Given the description of an element on the screen output the (x, y) to click on. 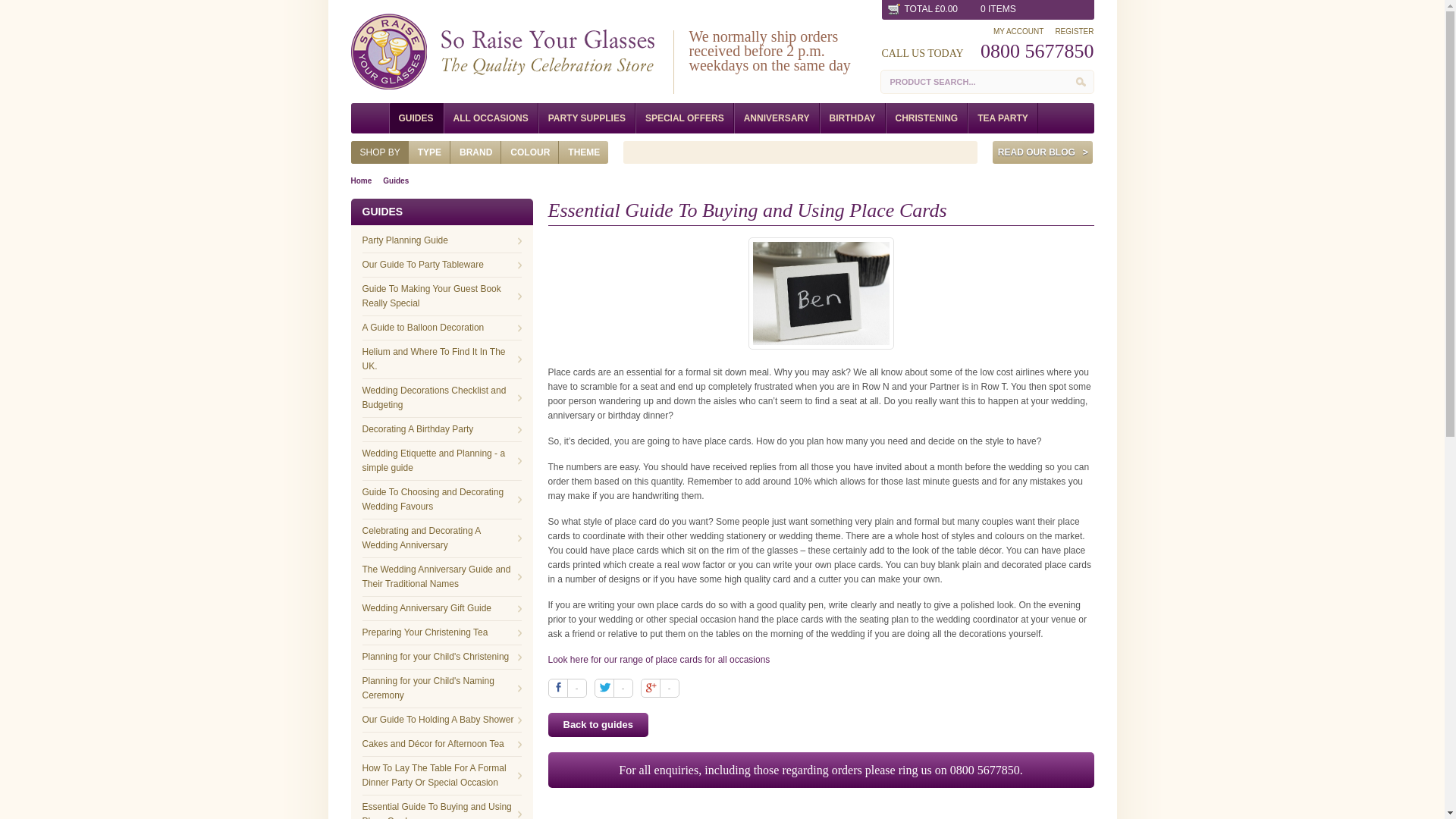
Our Guide To Party Tableware (441, 265)
Shop by Colour (530, 152)
So Raise Your Glasses (501, 51)
My Account (1012, 31)
Celebrating and Decorating A Wedding Anniversary (441, 538)
Shop by Brand (476, 152)
Wedding Anniversary Gift Guide (613, 687)
Celebrating and Decorating A Wedding Anniversary (441, 608)
Wedding Decorations Checklist and Budgeting (441, 538)
